Given the description of an element on the screen output the (x, y) to click on. 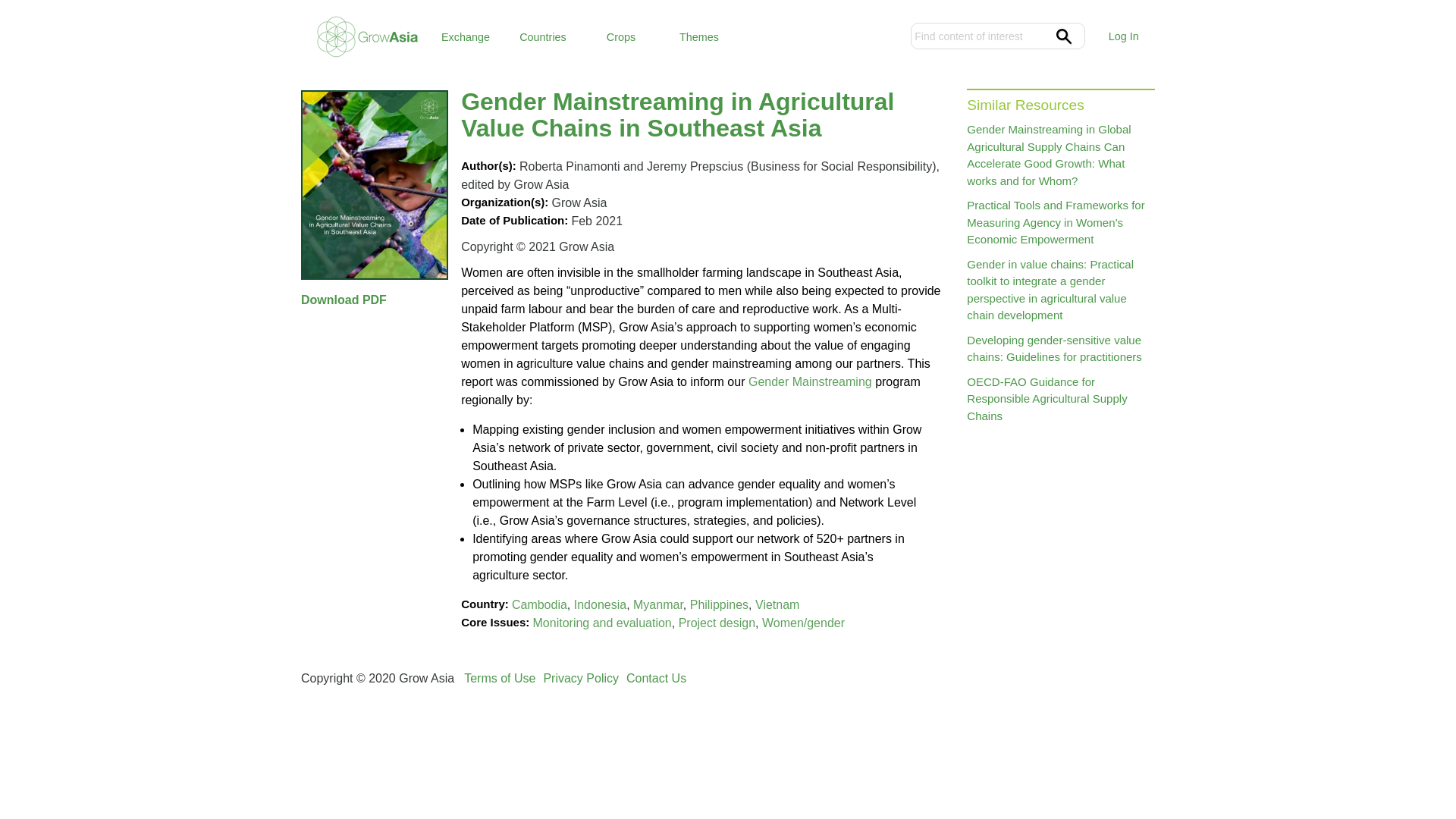
Home (365, 33)
Exchange (465, 36)
Countries (541, 36)
Themes (699, 36)
Crops (620, 36)
